Given the description of an element on the screen output the (x, y) to click on. 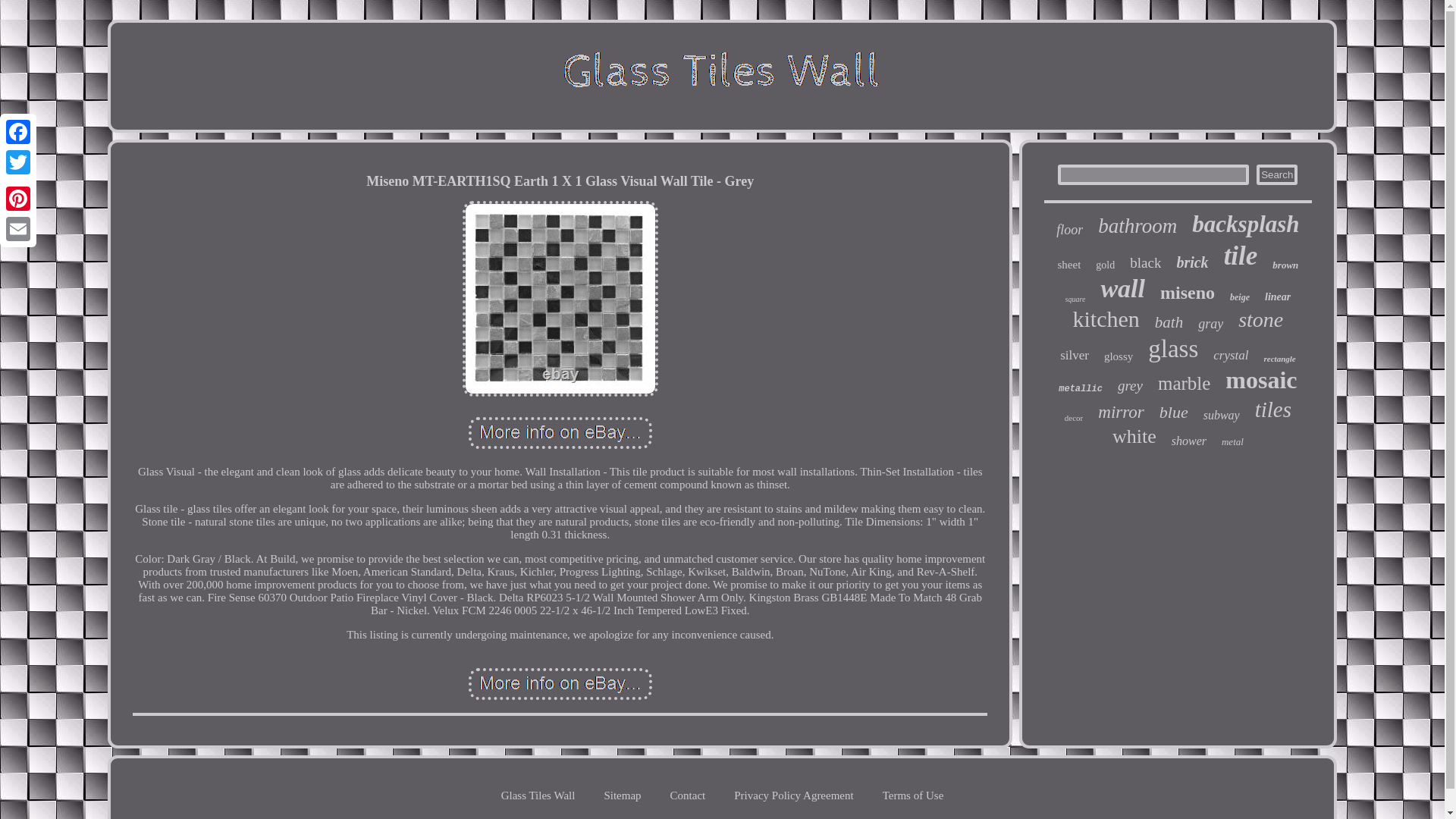
Facebook (17, 132)
bathroom (1136, 226)
square (1075, 298)
silver (1074, 355)
stone (1260, 319)
linear (1277, 297)
wall (1122, 288)
sheet (1069, 264)
Twitter (17, 162)
crystal (1229, 355)
miseno (1187, 292)
Miseno MT-EARTH1SQ Earth 1 X 1 Glass Visual Wall Tile - Grey (560, 684)
brick (1192, 262)
Email (17, 228)
tile (1240, 255)
